Given the description of an element on the screen output the (x, y) to click on. 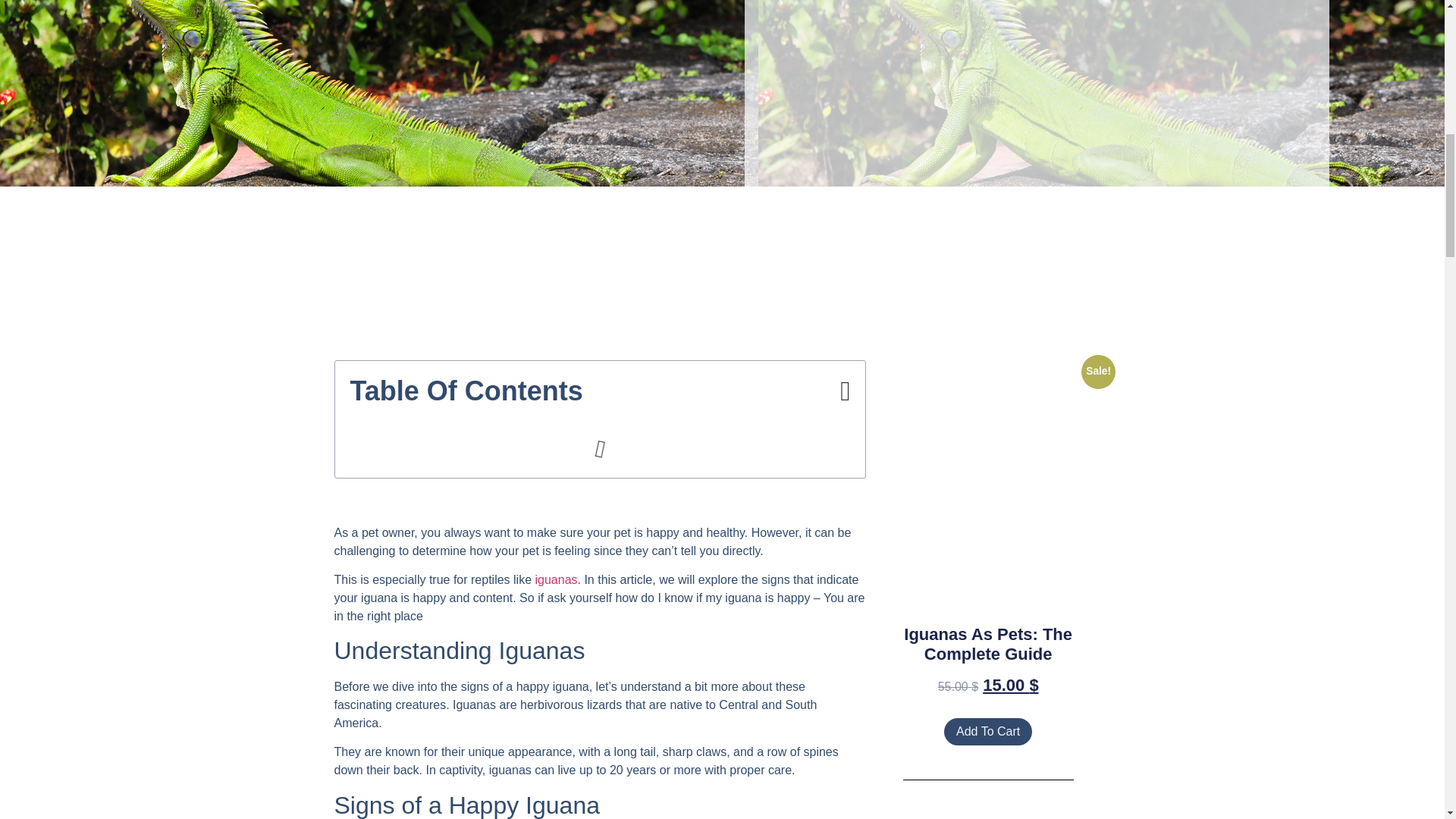
Add To Cart (987, 731)
iguanas (555, 579)
